Given the description of an element on the screen output the (x, y) to click on. 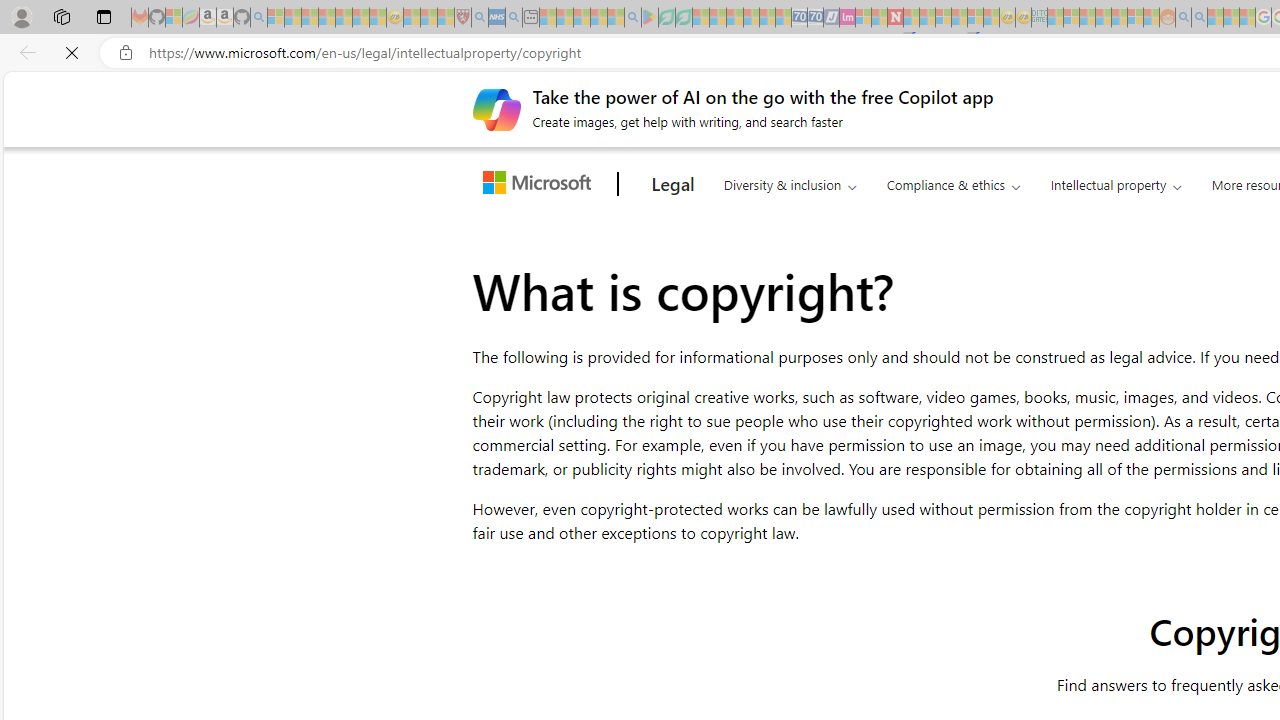
Terms of Use Agreement - Sleeping (666, 17)
utah sues federal government - Search - Sleeping (513, 17)
Jobs - lastminute.com Investor Portal - Sleeping (847, 17)
